Given the description of an element on the screen output the (x, y) to click on. 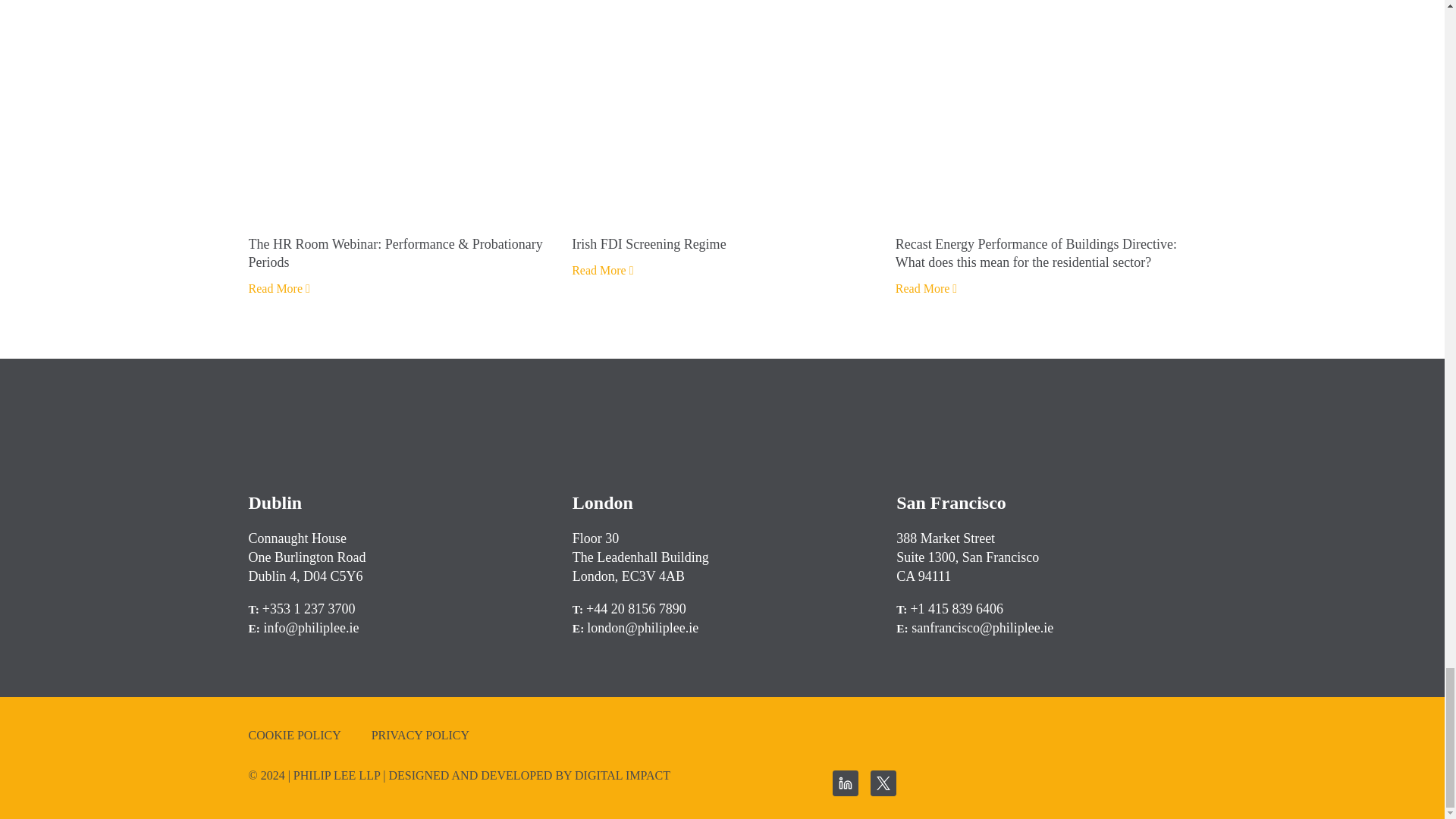
COOKIE POLICY (294, 735)
Irish FDI Screening Regime (722, 244)
PRIVACY POLICY (419, 735)
353 1 237 3700 (312, 608)
